Given the description of an element on the screen output the (x, y) to click on. 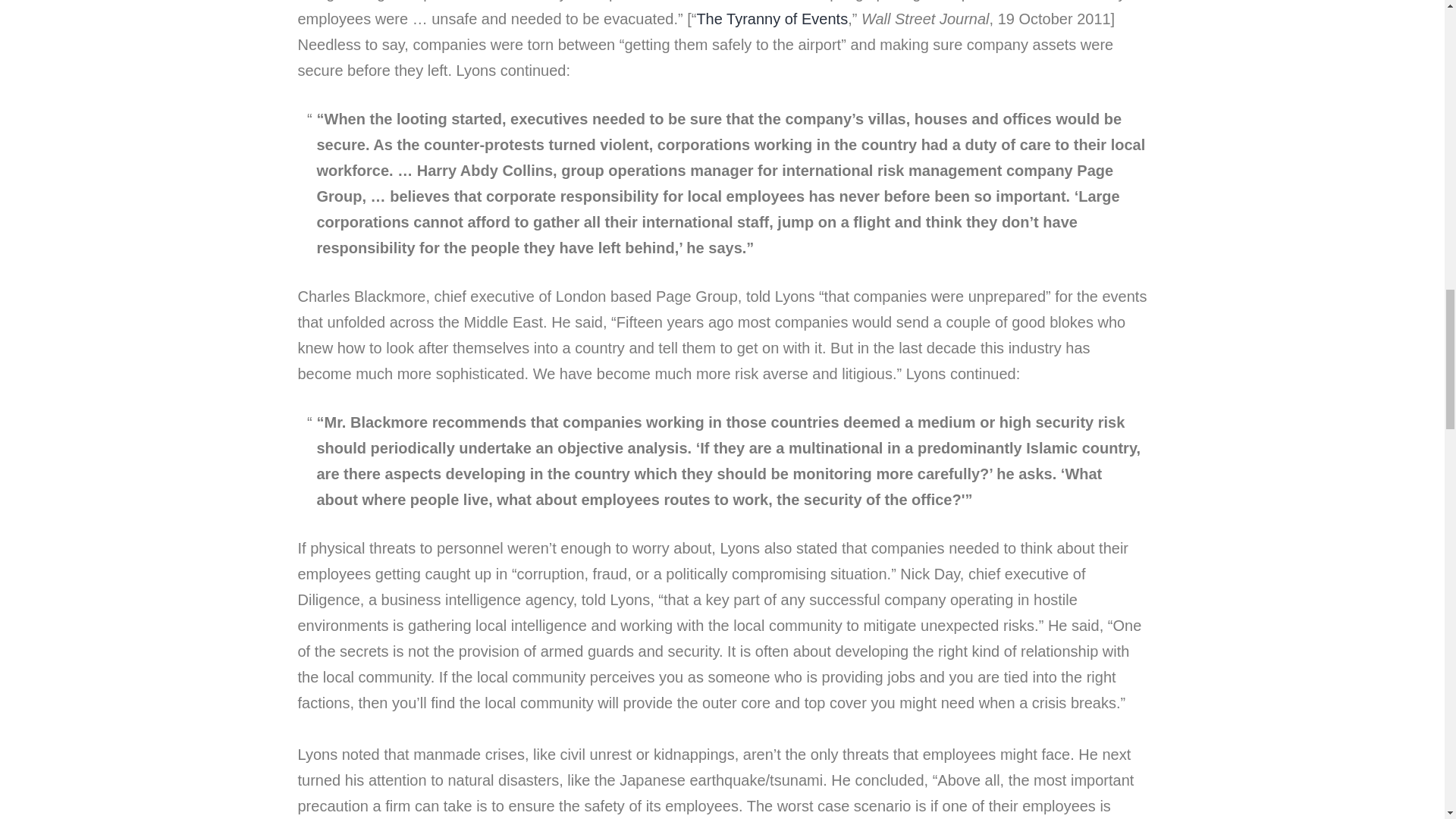
The Tyranny of Events (771, 18)
